Given the description of an element on the screen output the (x, y) to click on. 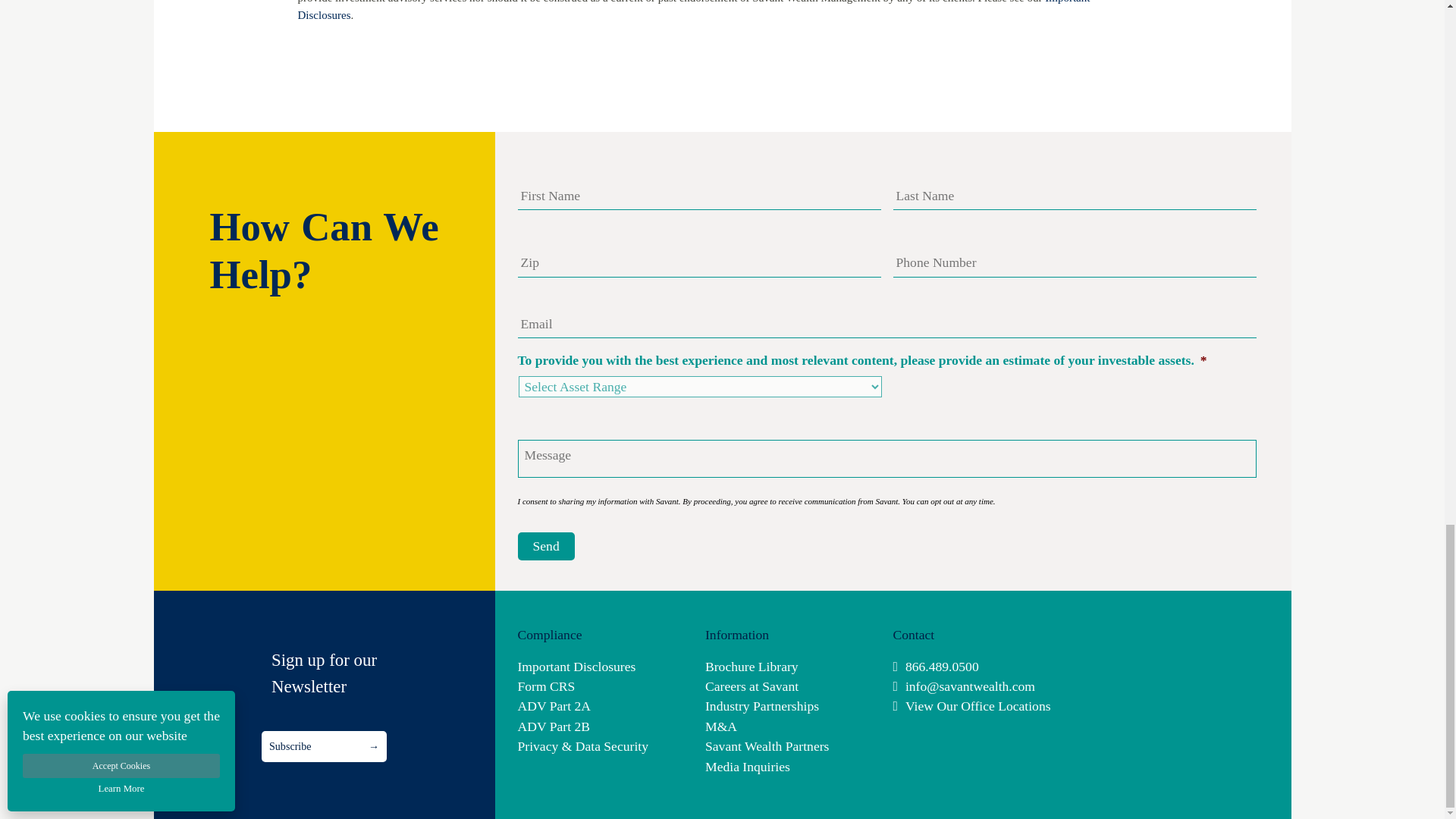
Send (544, 546)
